Given the description of an element on the screen output the (x, y) to click on. 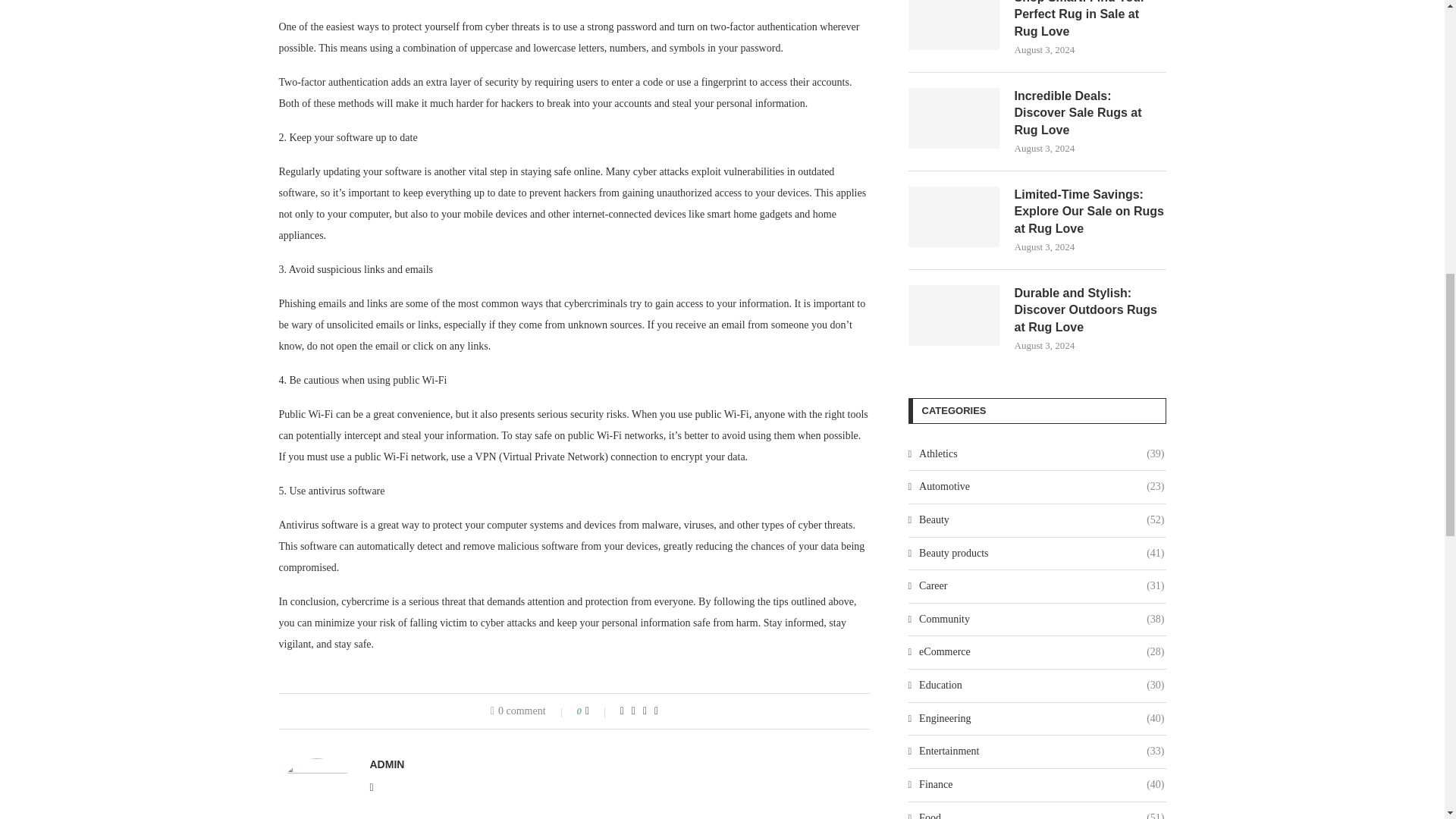
Author admin (386, 764)
Like (597, 711)
Incredible Deals: Discover Sale Rugs at Rug Love (953, 117)
Shop Smart: Find Your Perfect Rug in Sale at Rug Love (1090, 20)
Incredible Deals: Discover Sale Rugs at Rug Love (1090, 112)
ADMIN (386, 764)
Shop Smart: Find Your Perfect Rug in Sale at Rug Love (953, 24)
